Given the description of an element on the screen output the (x, y) to click on. 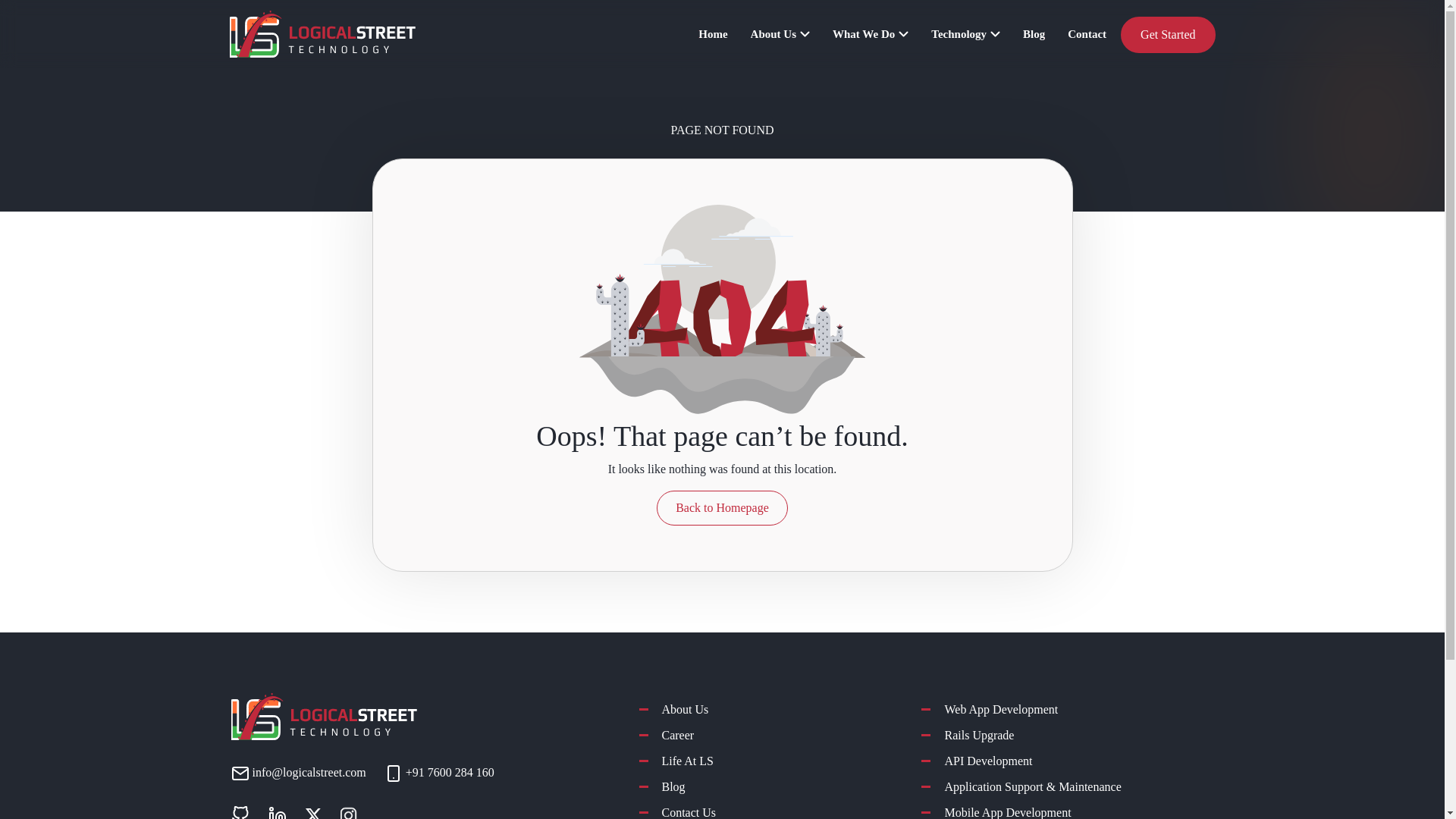
About Us (780, 33)
What We Do (870, 33)
Contact (1086, 33)
Technology (965, 33)
Get Started (1167, 34)
Back to Homepage (721, 507)
